Given the description of an element on the screen output the (x, y) to click on. 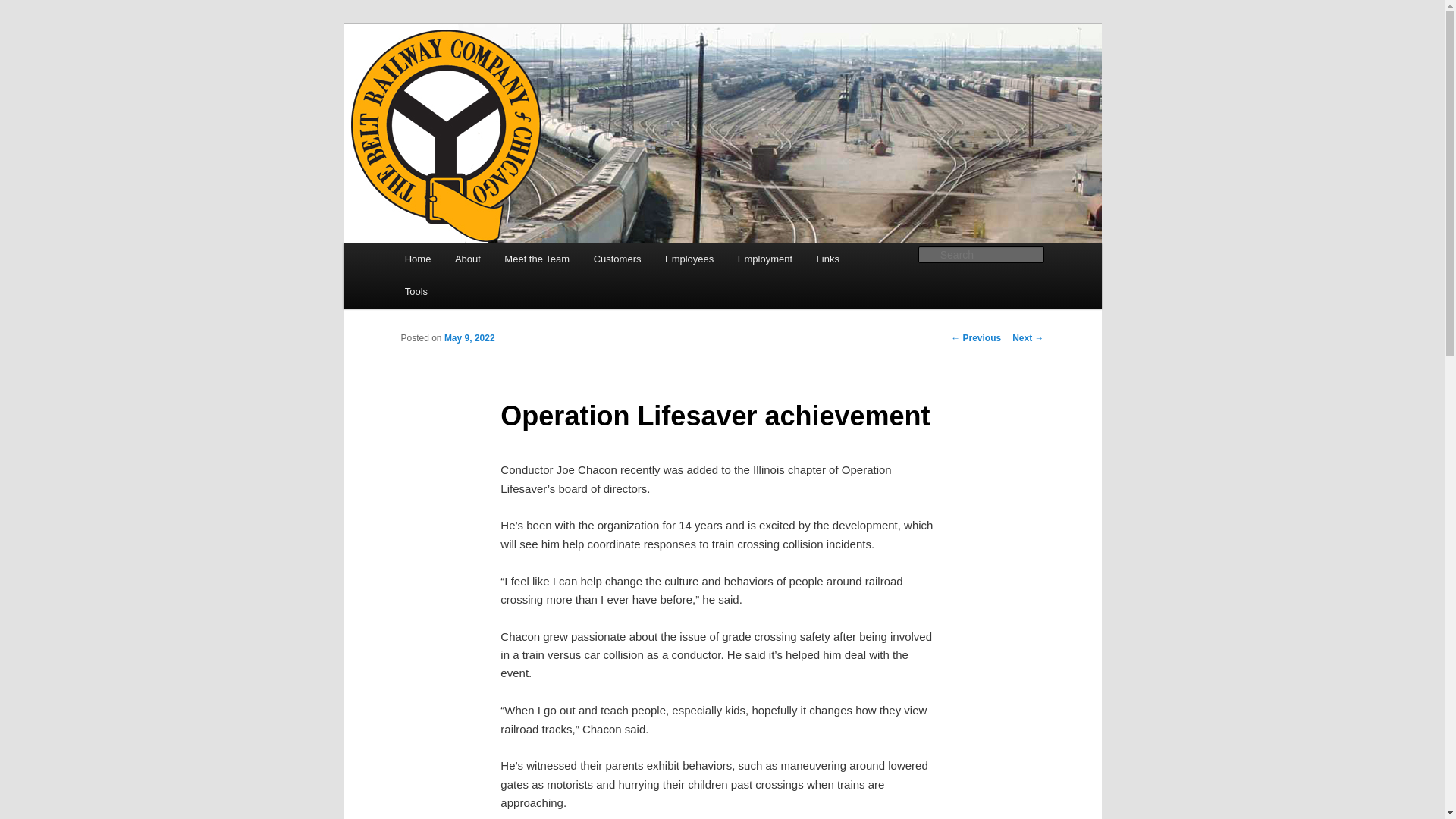
The Belt Railway Company of Chicago (607, 78)
Customers (616, 258)
Employees (688, 258)
8:00 am (469, 337)
Home (417, 258)
About (467, 258)
Search (24, 8)
Meet the Team (536, 258)
